Given the description of an element on the screen output the (x, y) to click on. 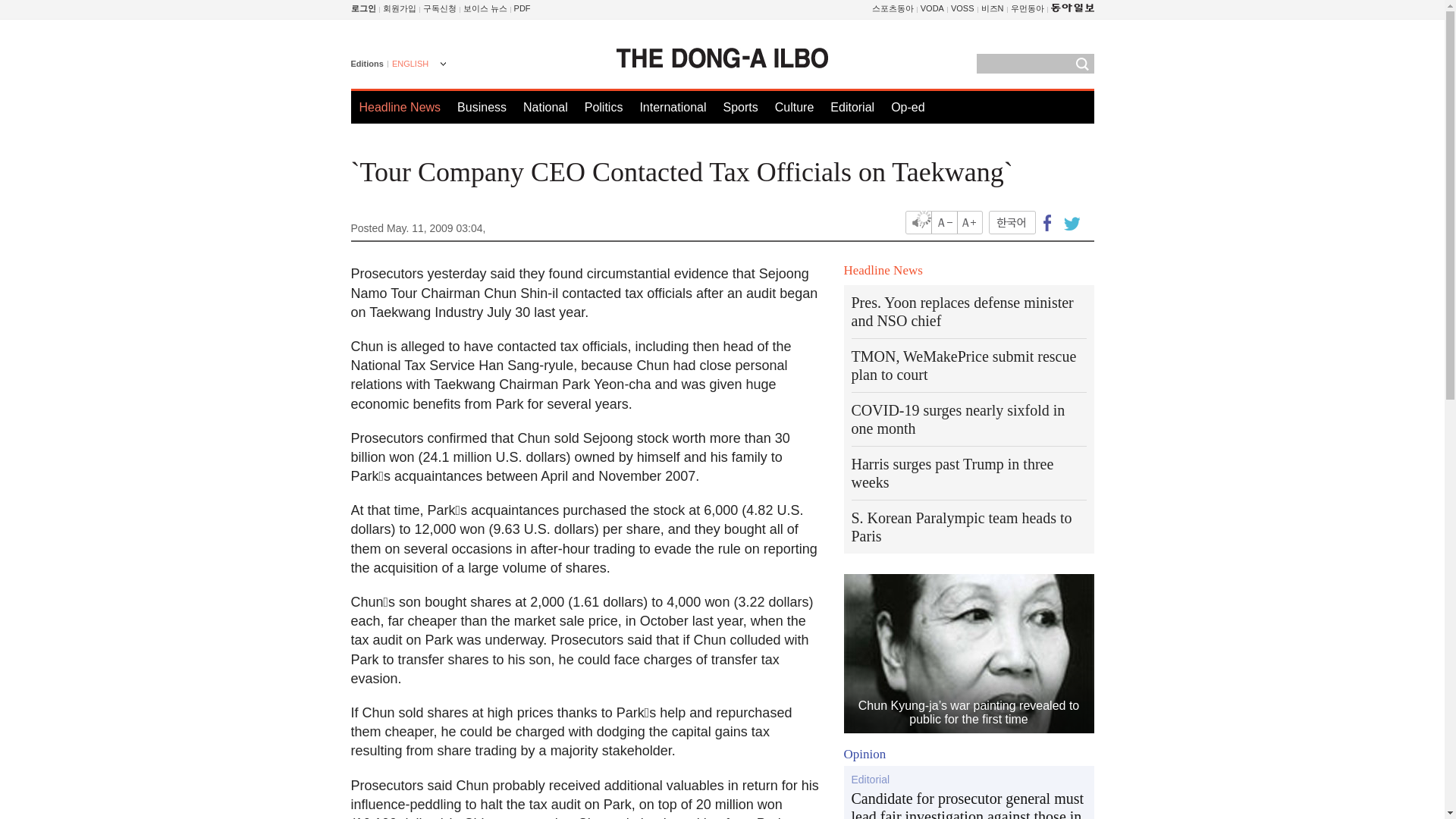
International (672, 106)
Headline News (400, 106)
National (544, 106)
Politics (604, 106)
PDF (522, 8)
Editorial (852, 106)
ENGLISH (416, 65)
PDF (522, 8)
Op-ed (907, 106)
Font size down (944, 222)
